Given the description of an element on the screen output the (x, y) to click on. 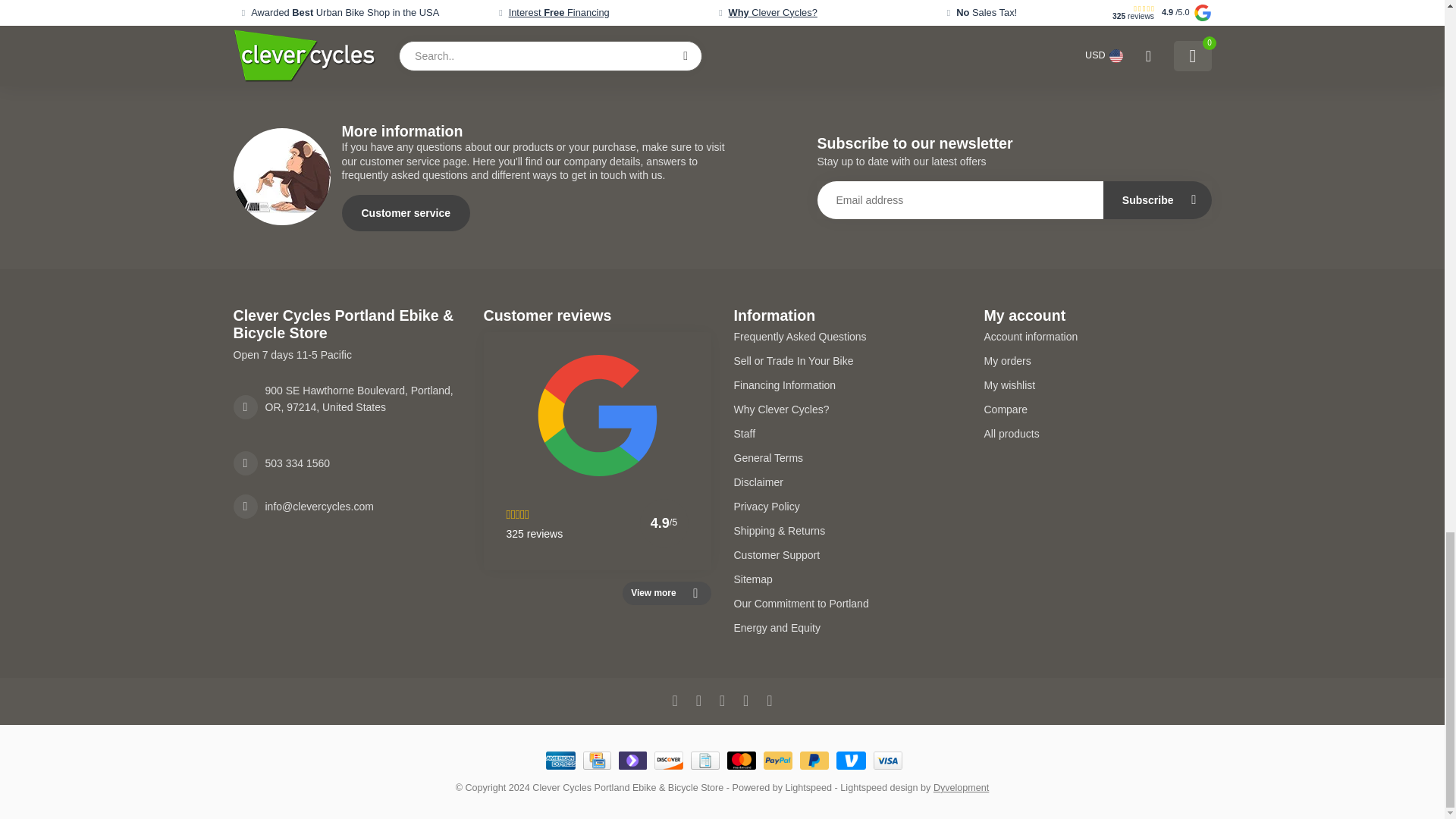
Disclaimer (846, 482)
Frequently Asked Questions (846, 336)
Customer Support (846, 554)
Privacy Policy (846, 506)
General Terms (846, 457)
Sell or Trade In Your Bike (846, 360)
Staff (846, 433)
Financing Information (846, 385)
Why Clever Cycles? (846, 409)
